Given the description of an element on the screen output the (x, y) to click on. 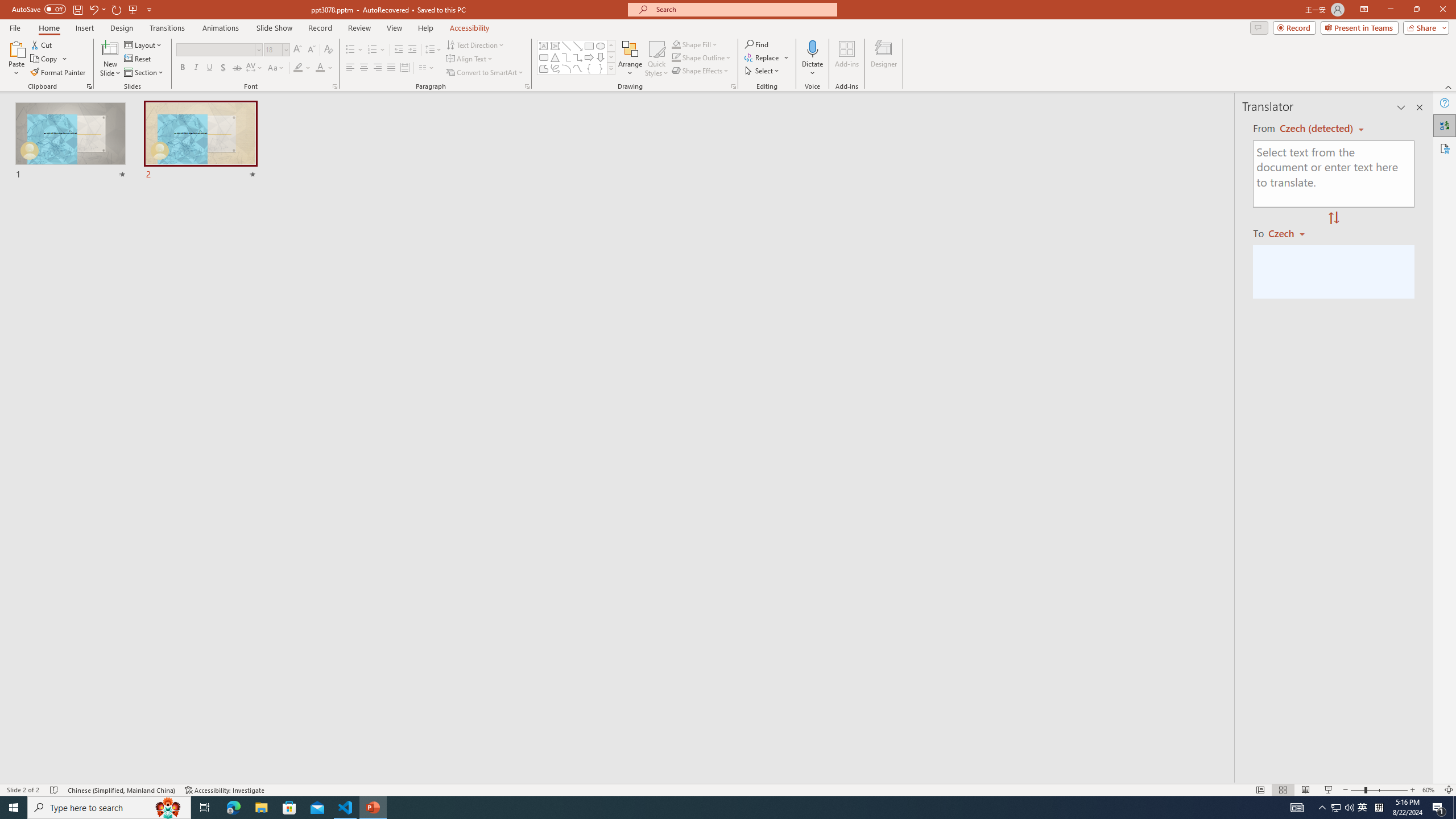
Czech (1291, 232)
